Given the description of an element on the screen output the (x, y) to click on. 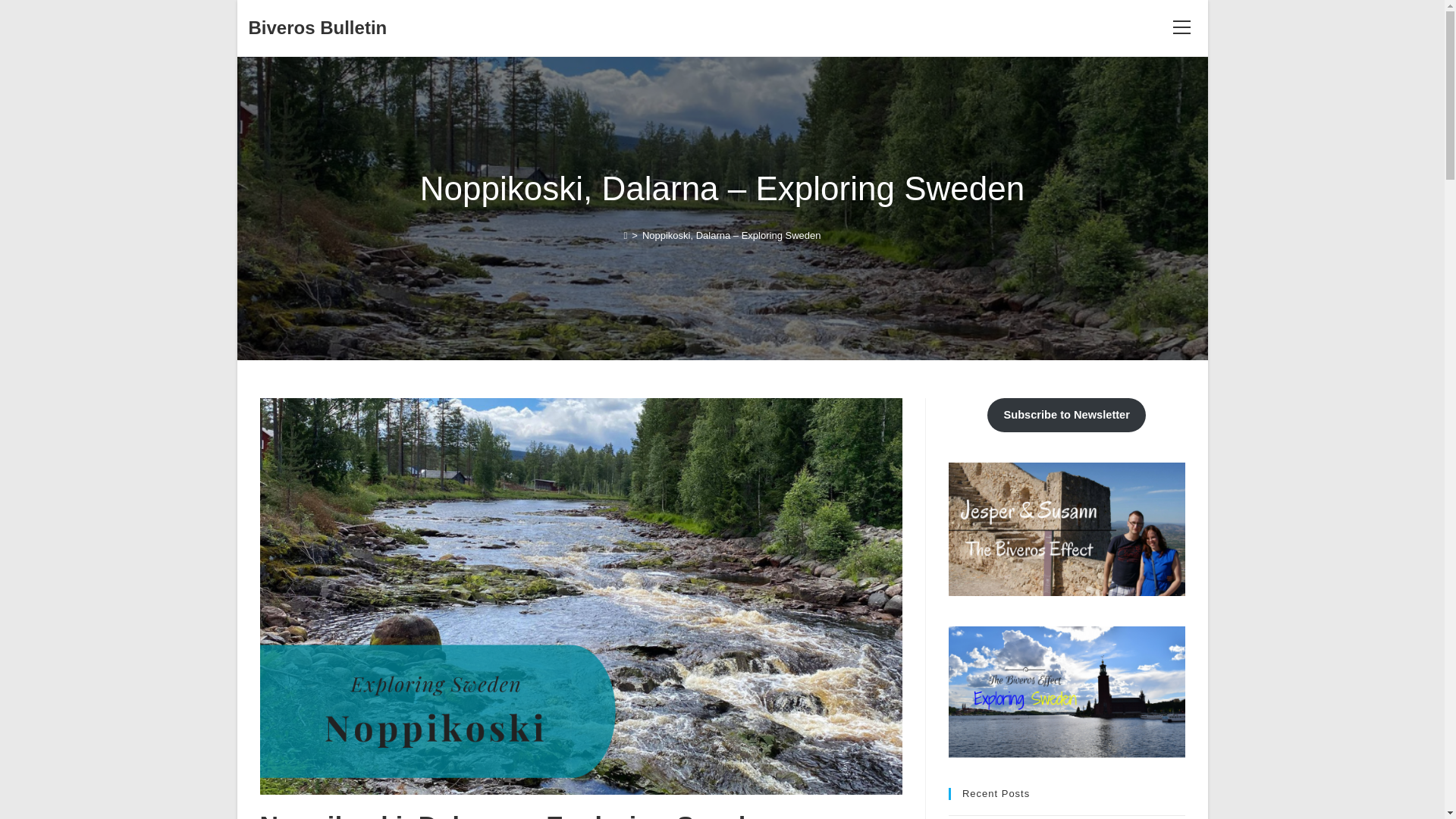
Biveros Bulletin (317, 27)
View website Menu (1181, 27)
